Given the description of an element on the screen output the (x, y) to click on. 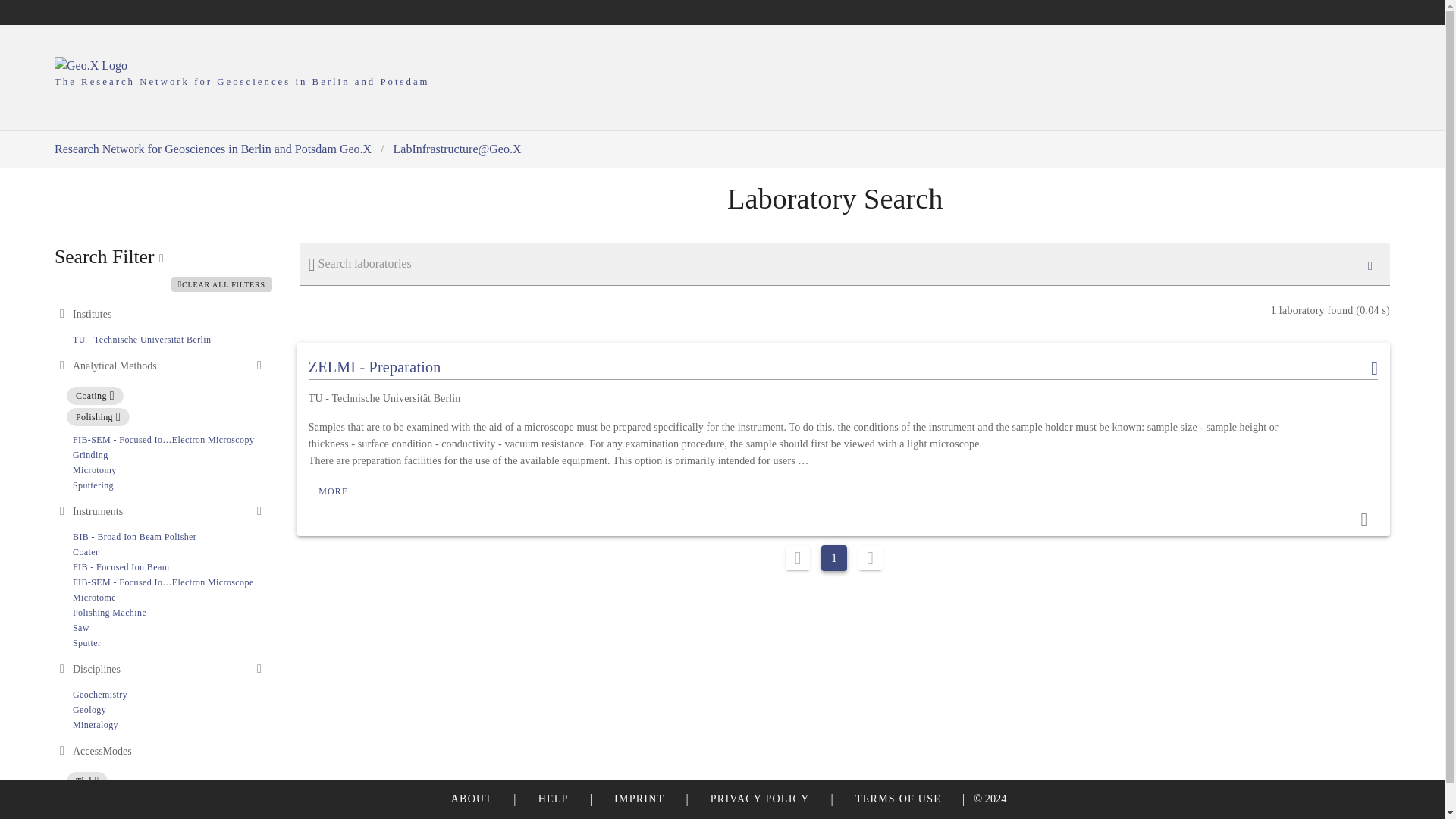
Collapse filter (61, 364)
The Research Network for Geosciences in Berlin and Potsdam (722, 73)
Geology (89, 709)
Coater (85, 552)
FIB-SEM - Focused Ion Beam Scanning Electron Microscope (162, 582)
Open search (258, 364)
Collapse filter (61, 313)
Polishing (97, 416)
Sputtering (92, 484)
Open search (258, 510)
Sputter (86, 643)
Microtome (94, 597)
Collapse filter (61, 510)
Polishing Machine (109, 612)
Microtomy (94, 470)
